Given the description of an element on the screen output the (x, y) to click on. 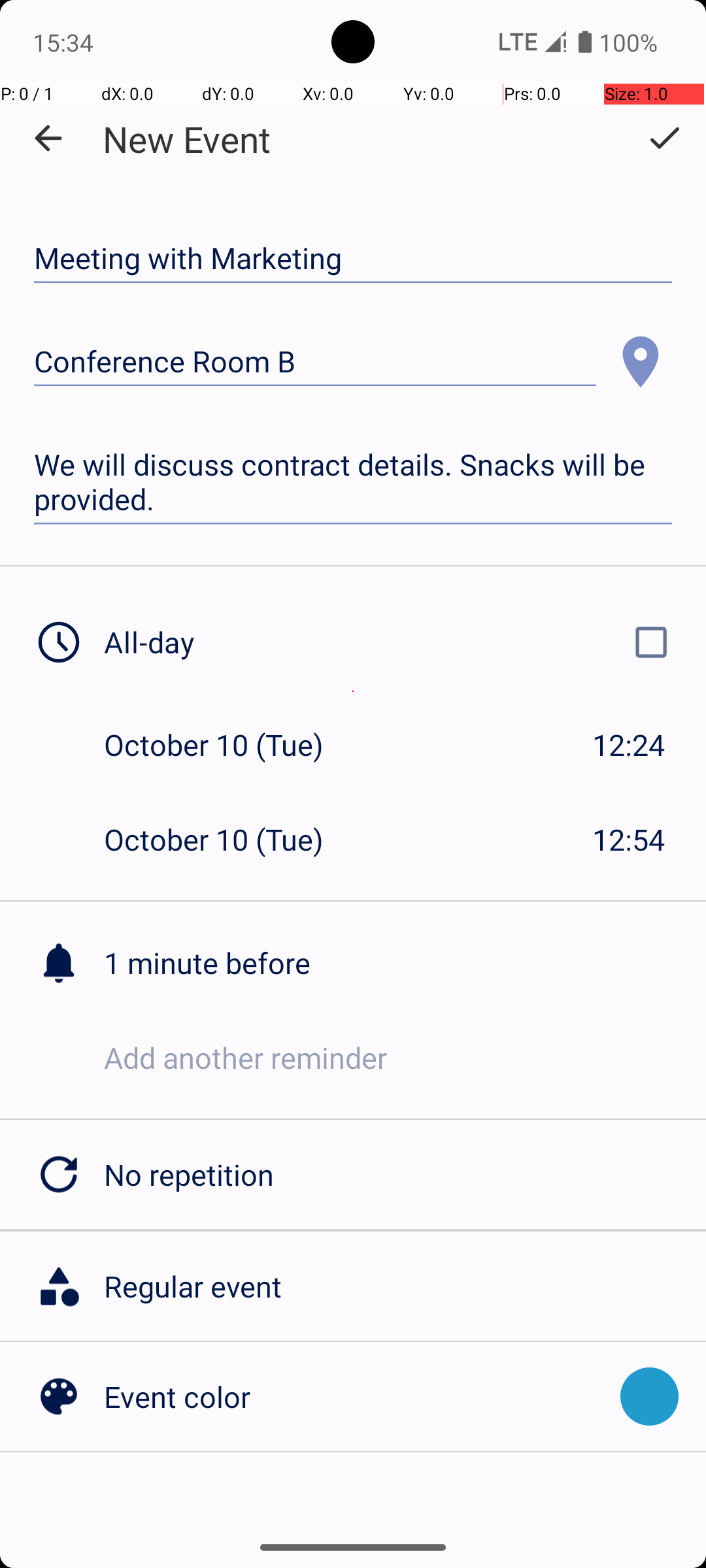
Conference Room B Element type: android.widget.EditText (314, 361)
We will discuss contract details. Snacks will be provided. Element type: android.widget.EditText (352, 482)
October 10 (Tue) Element type: android.widget.TextView (227, 744)
12:24 Element type: android.widget.TextView (628, 744)
12:54 Element type: android.widget.TextView (628, 838)
1 minute before Element type: android.widget.TextView (404, 962)
Add another reminder Element type: android.widget.TextView (404, 1057)
